Given the description of an element on the screen output the (x, y) to click on. 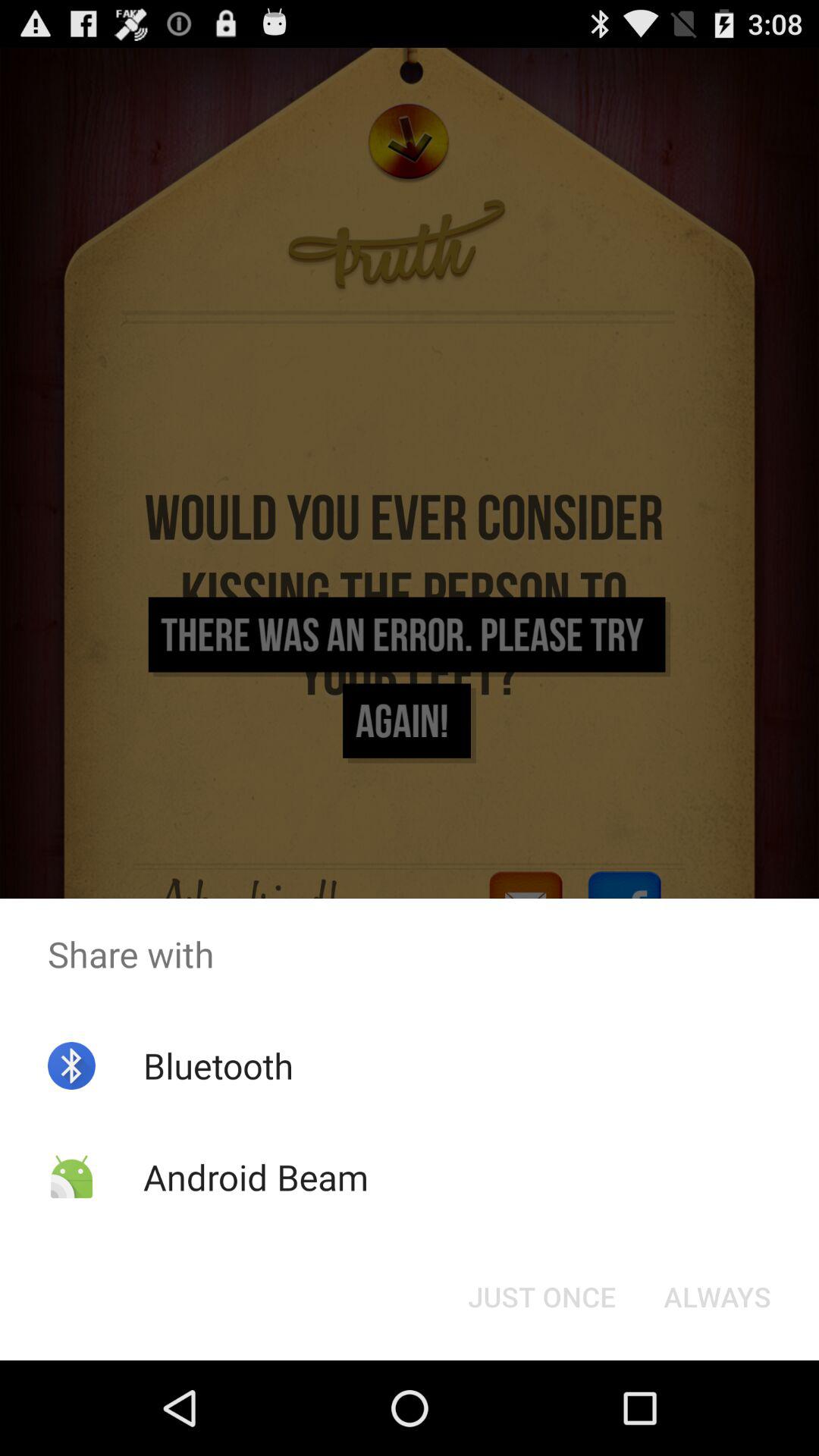
launch android beam app (255, 1176)
